Given the description of an element on the screen output the (x, y) to click on. 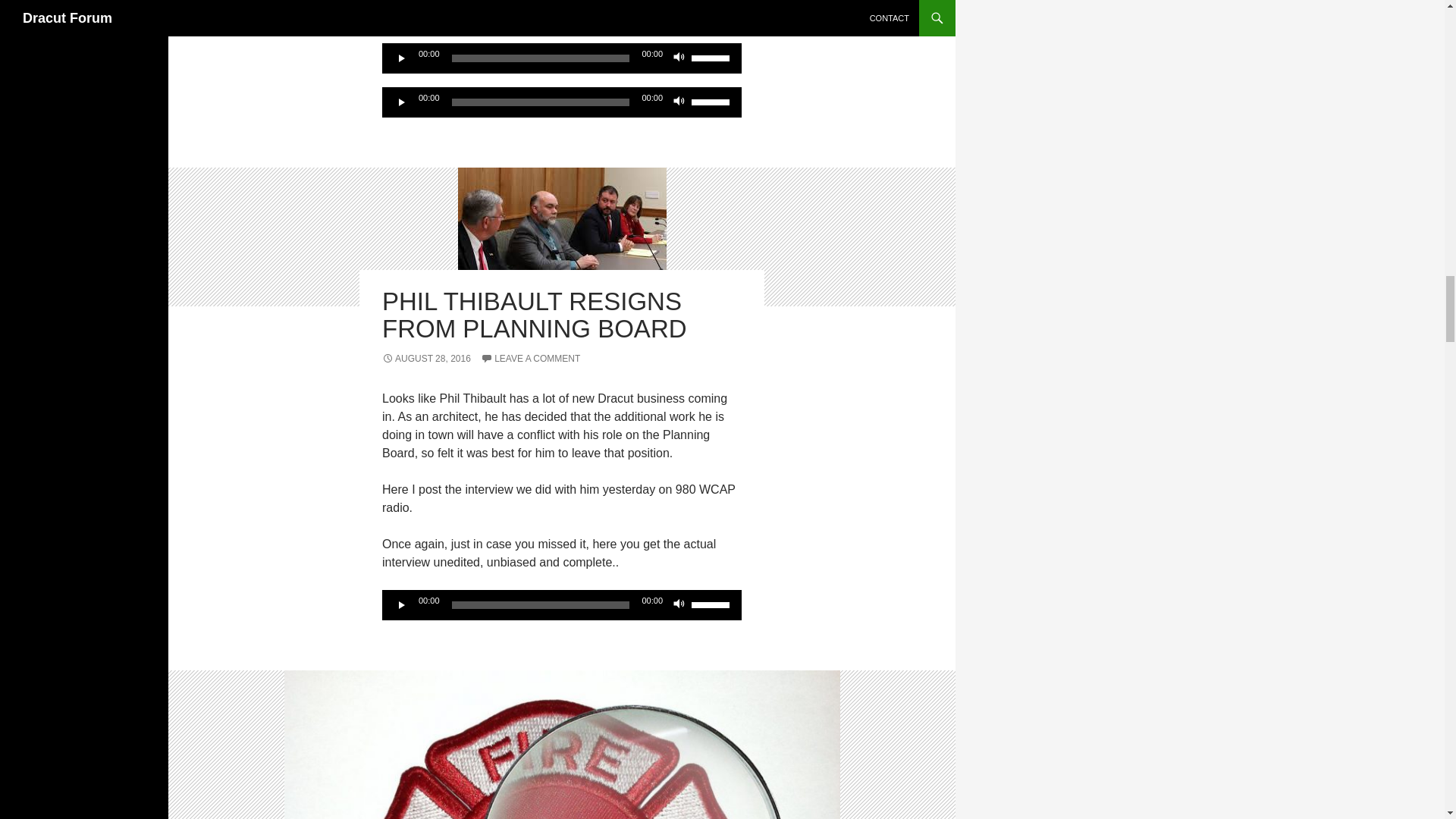
Mute (679, 102)
Mute (679, 604)
Play (401, 58)
Mute (679, 58)
Play (401, 604)
Play (401, 102)
